Given the description of an element on the screen output the (x, y) to click on. 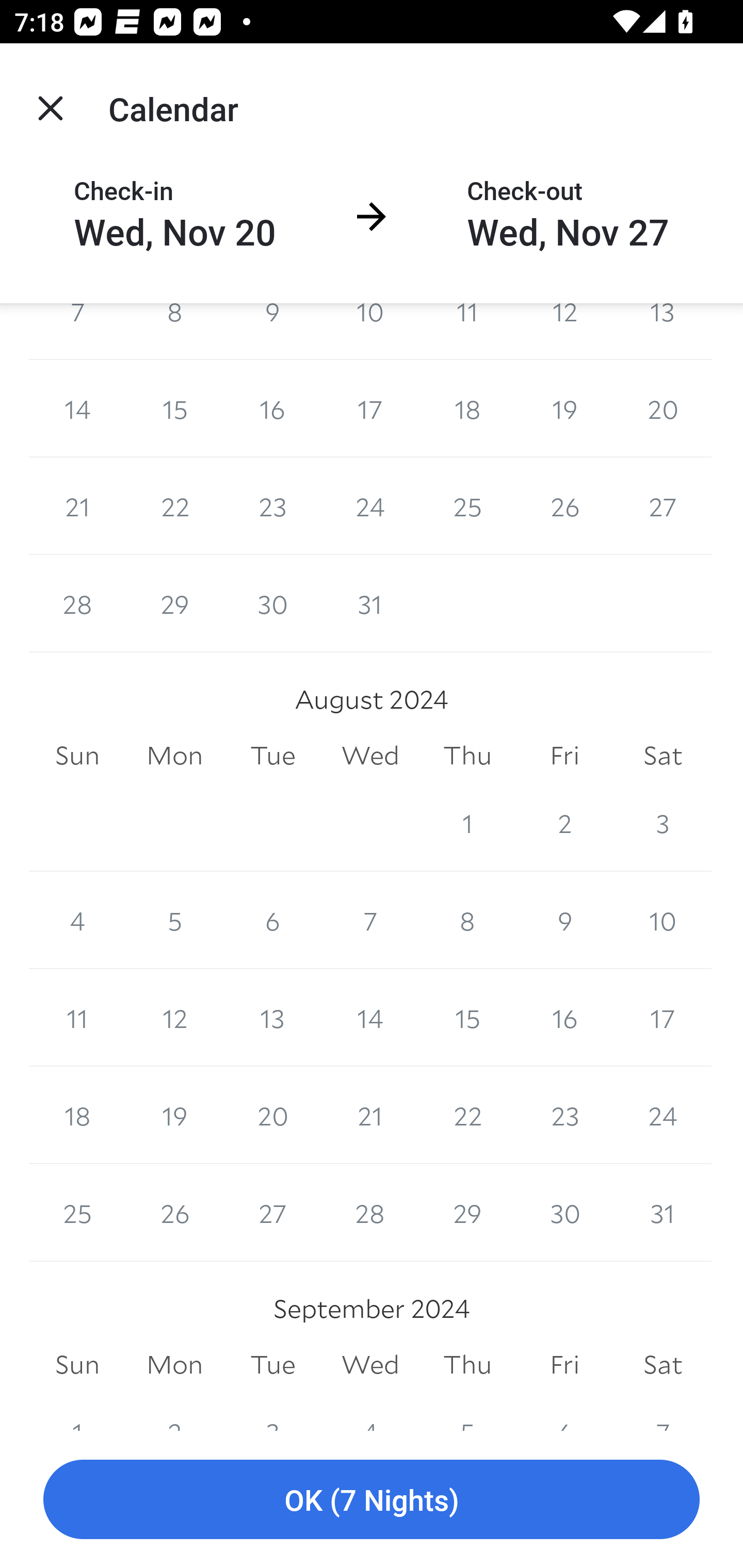
7 7 July 2024 (77, 331)
8 8 July 2024 (174, 331)
9 9 July 2024 (272, 331)
10 10 July 2024 (370, 331)
11 11 July 2024 (467, 331)
12 12 July 2024 (564, 331)
13 13 July 2024 (662, 331)
14 14 July 2024 (77, 408)
15 15 July 2024 (174, 408)
16 16 July 2024 (272, 408)
17 17 July 2024 (370, 408)
18 18 July 2024 (467, 408)
19 19 July 2024 (564, 408)
20 20 July 2024 (662, 408)
21 21 July 2024 (77, 506)
22 22 July 2024 (174, 506)
23 23 July 2024 (272, 506)
24 24 July 2024 (370, 506)
25 25 July 2024 (467, 506)
26 26 July 2024 (564, 506)
27 27 July 2024 (662, 506)
28 28 July 2024 (77, 603)
29 29 July 2024 (174, 603)
30 30 July 2024 (272, 603)
31 31 July 2024 (370, 603)
Sun (77, 755)
Mon (174, 755)
Tue (272, 755)
Wed (370, 755)
Thu (467, 755)
Fri (564, 755)
Sat (662, 755)
1 1 August 2024 (467, 822)
2 2 August 2024 (564, 822)
3 3 August 2024 (662, 822)
4 4 August 2024 (77, 920)
5 5 August 2024 (174, 920)
6 6 August 2024 (272, 920)
7 7 August 2024 (370, 920)
8 8 August 2024 (467, 920)
9 9 August 2024 (564, 920)
10 10 August 2024 (662, 920)
11 11 August 2024 (77, 1017)
12 12 August 2024 (174, 1017)
13 13 August 2024 (272, 1017)
14 14 August 2024 (370, 1017)
15 15 August 2024 (467, 1017)
16 16 August 2024 (564, 1017)
17 17 August 2024 (662, 1017)
